Given the description of an element on the screen output the (x, y) to click on. 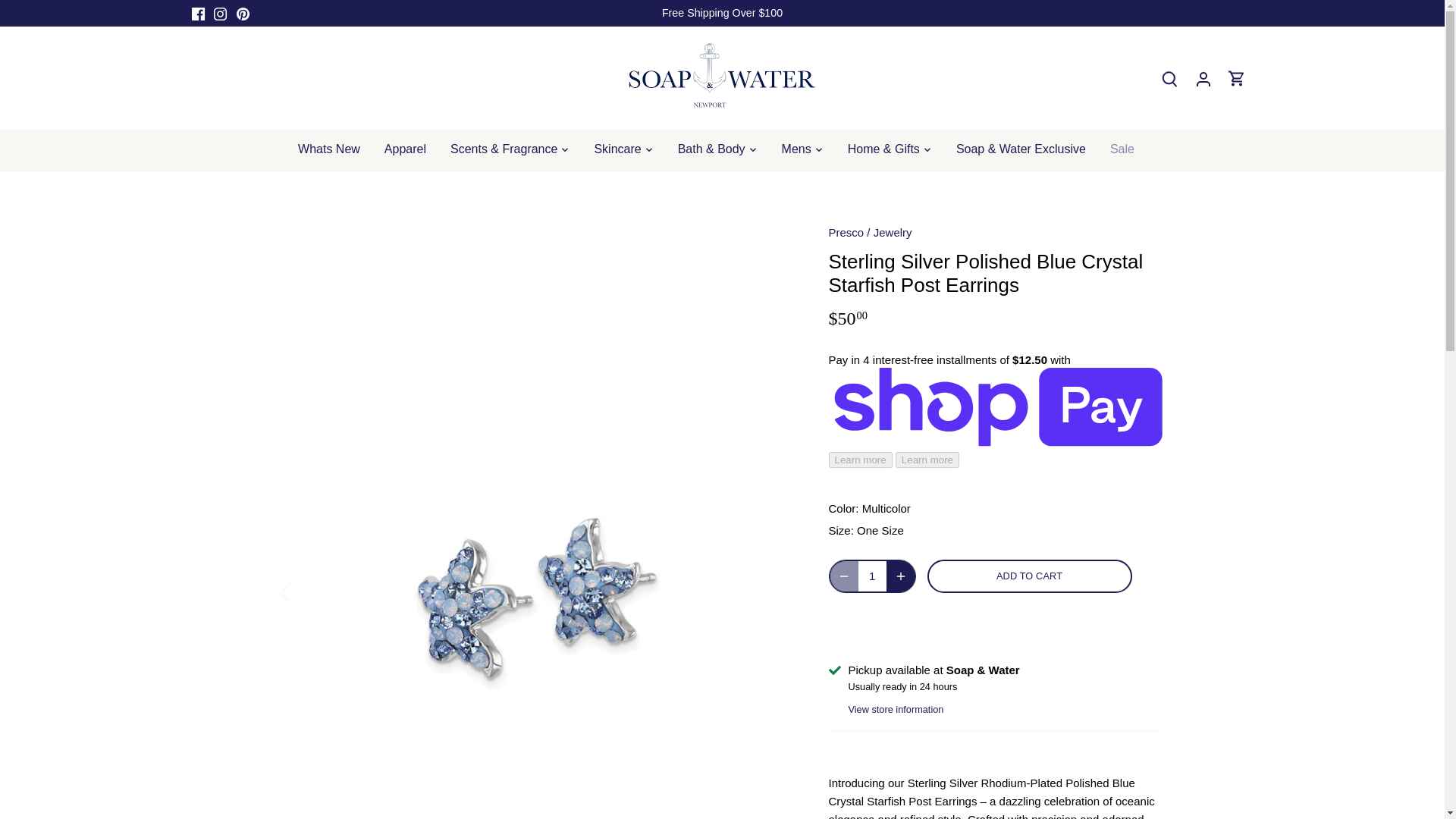
Whats New (335, 149)
Facebook (196, 13)
Skincare (616, 149)
Pinterest (241, 13)
Apparel (405, 149)
Instagram (220, 13)
1 (872, 576)
